Given the description of an element on the screen output the (x, y) to click on. 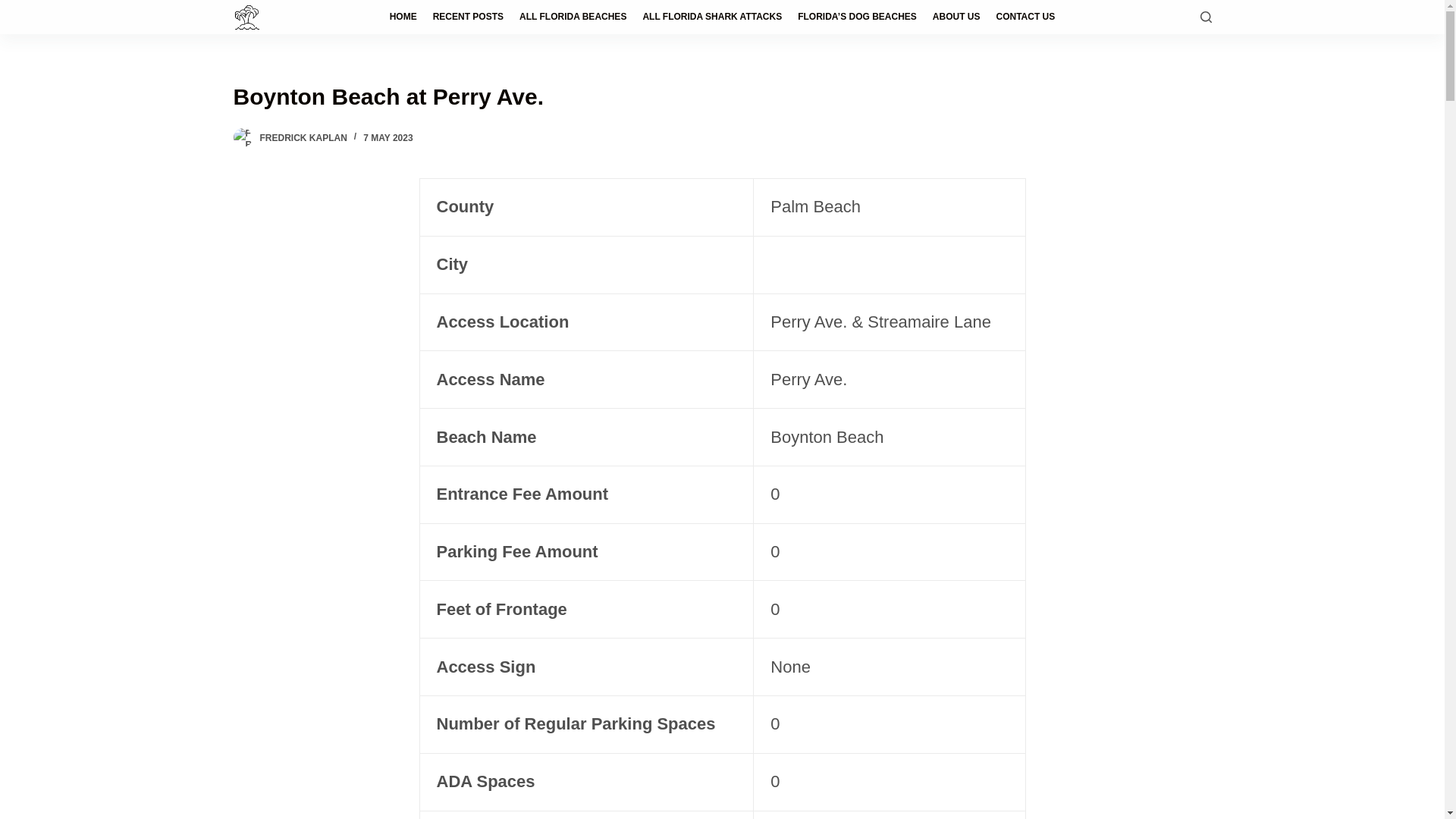
RECENT POSTS (468, 16)
ALL FLORIDA BEACHES (573, 16)
ALL FLORIDA SHARK ATTACKS (712, 16)
Boynton Beach at Perry Ave. (721, 96)
FREDRICK KAPLAN (302, 137)
CONTACT US (1025, 16)
ABOUT US (956, 16)
Skip to content (15, 7)
Posts by Fredrick Kaplan (302, 137)
HOME (403, 16)
